Given the description of an element on the screen output the (x, y) to click on. 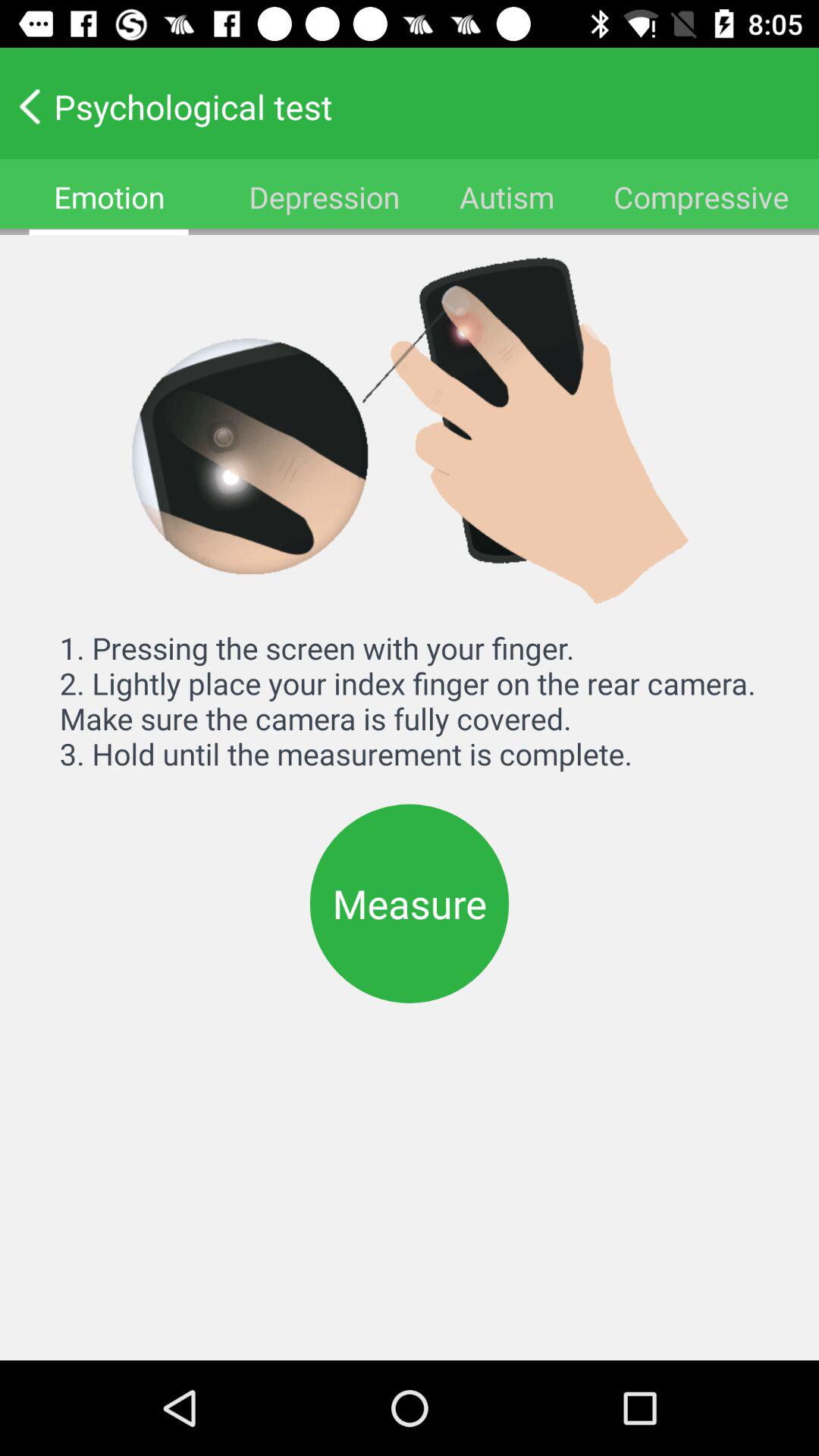
turn off icon next to the depression icon (506, 196)
